Given the description of an element on the screen output the (x, y) to click on. 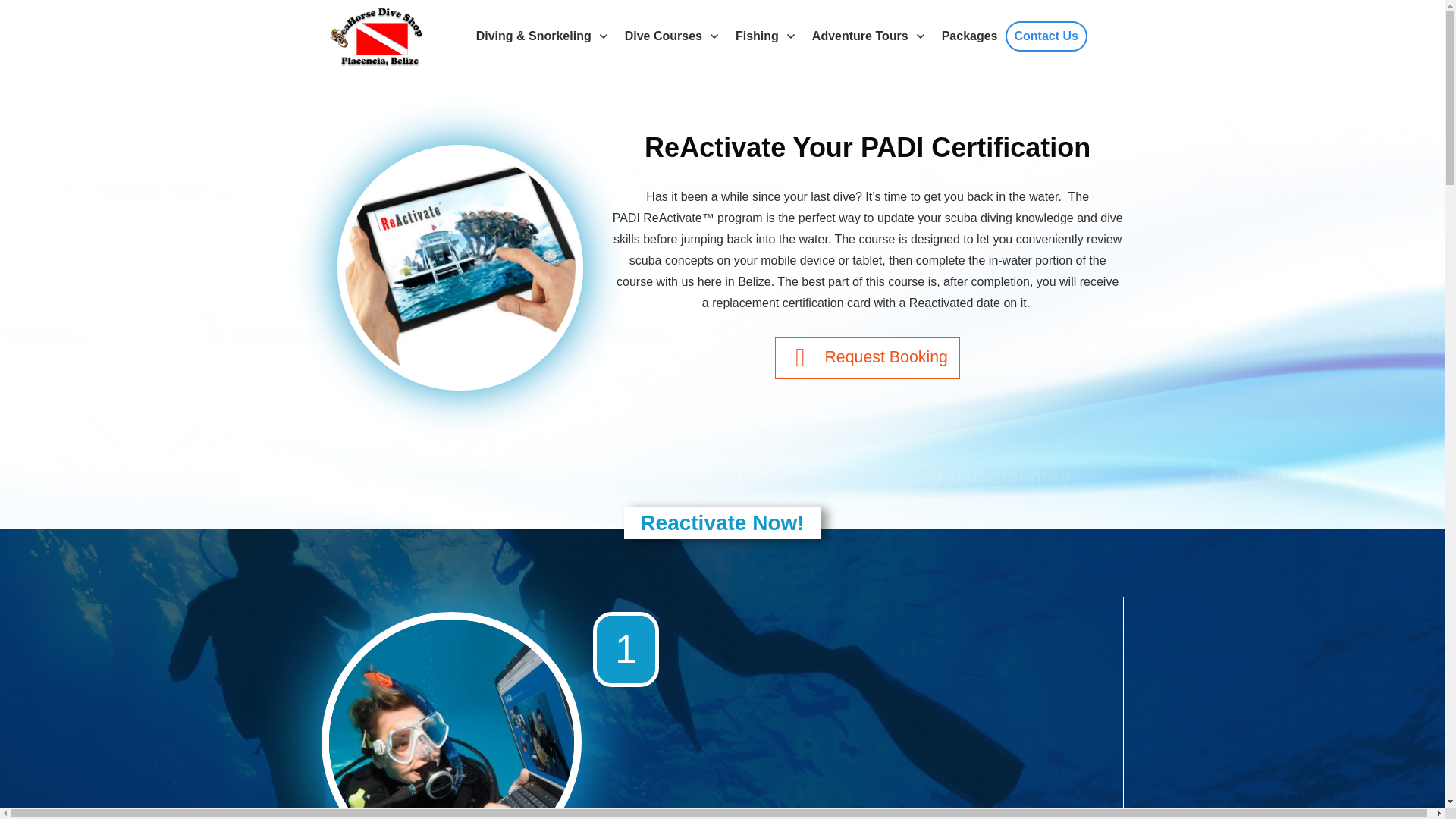
Fishing (765, 36)
Padi reactivate 2 (460, 267)
PADI-eLearning (451, 719)
Request Booking (866, 358)
Adventure Tours (869, 36)
Contact Us (1046, 36)
Dive Courses (672, 36)
Packages (969, 36)
